Given the description of an element on the screen output the (x, y) to click on. 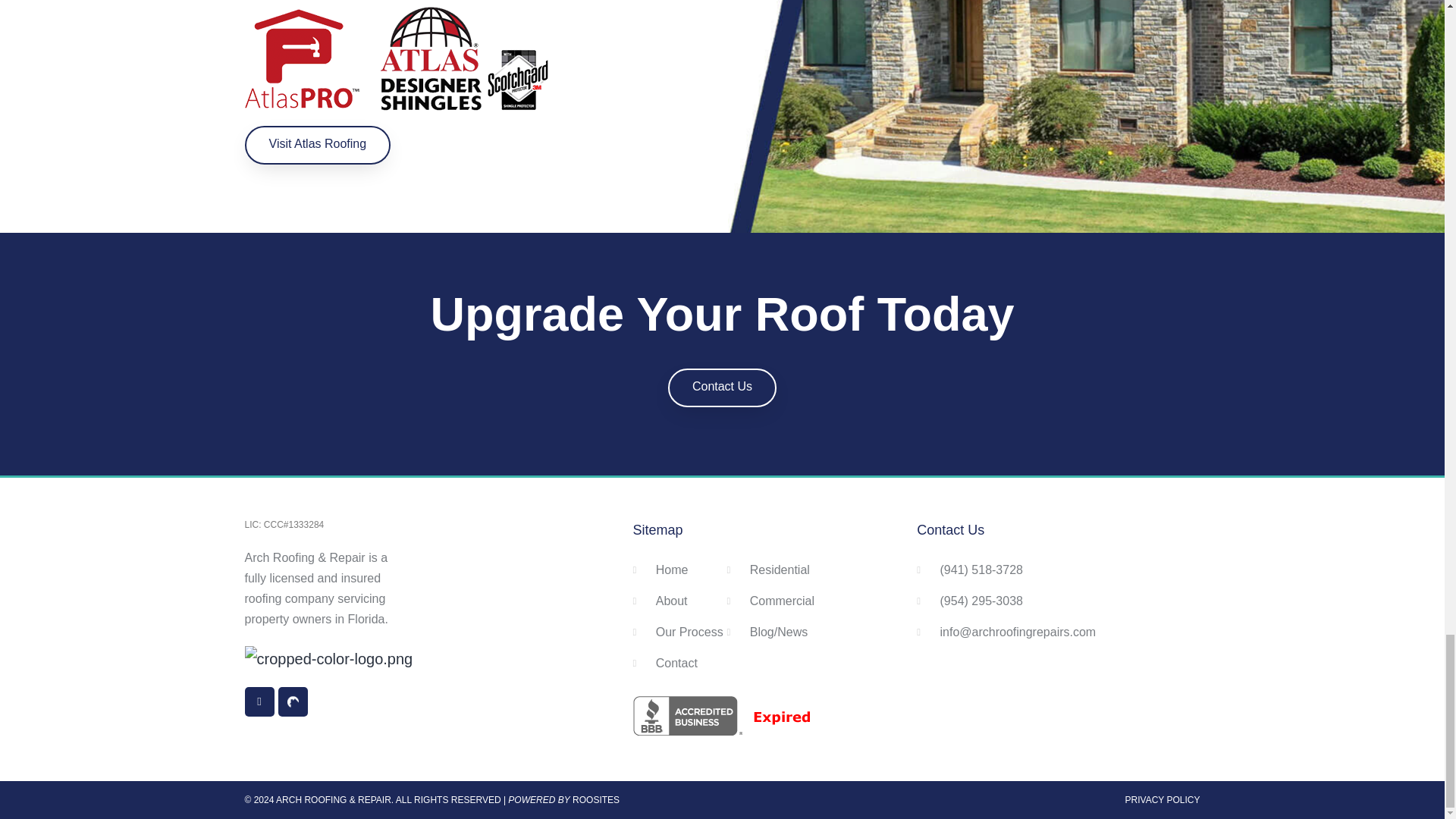
cropped-color-logo.png (328, 658)
 Powered by RooSites (596, 799)
